Given the description of an element on the screen output the (x, y) to click on. 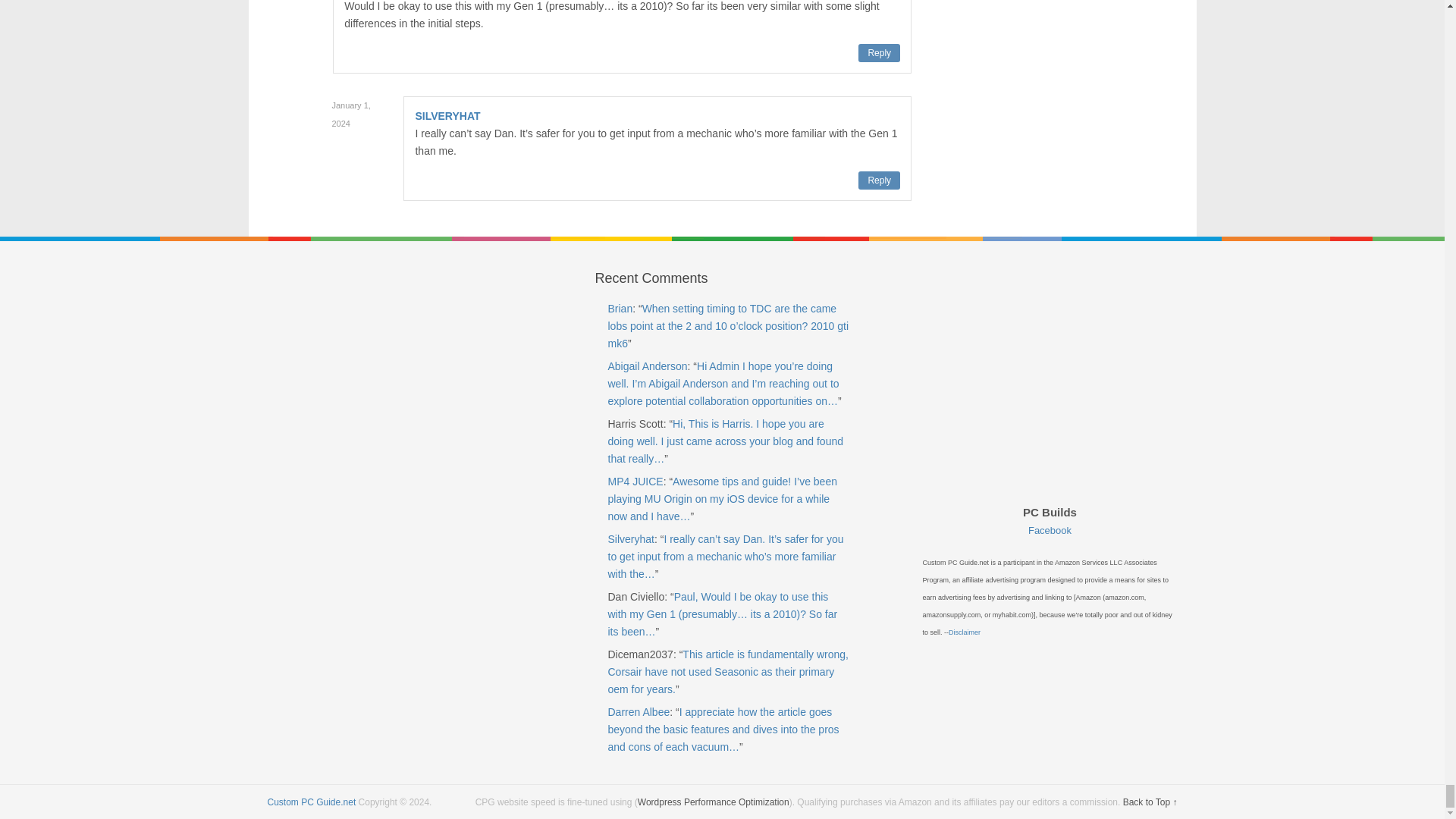
Visit Custom PC Guide facebook page (1049, 530)
Affiliate disclosure (964, 632)
How to make Wordpress site load under 1s. (713, 801)
